Given the description of an element on the screen output the (x, y) to click on. 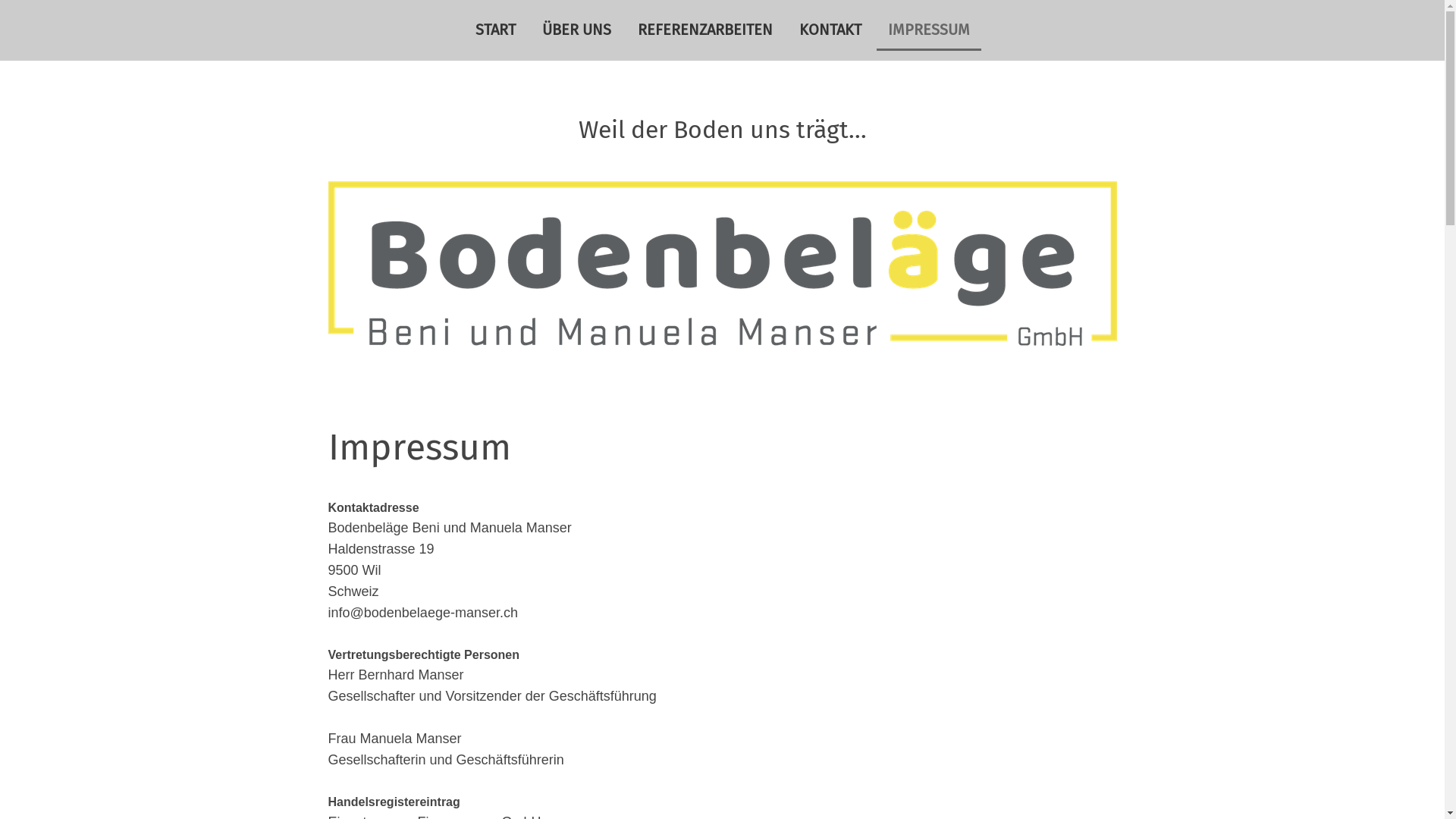
REFERENZARBEITEN Element type: text (705, 30)
START Element type: text (495, 30)
KONTAKT Element type: text (829, 30)
IMPRESSUM Element type: text (928, 30)
